Given the description of an element on the screen output the (x, y) to click on. 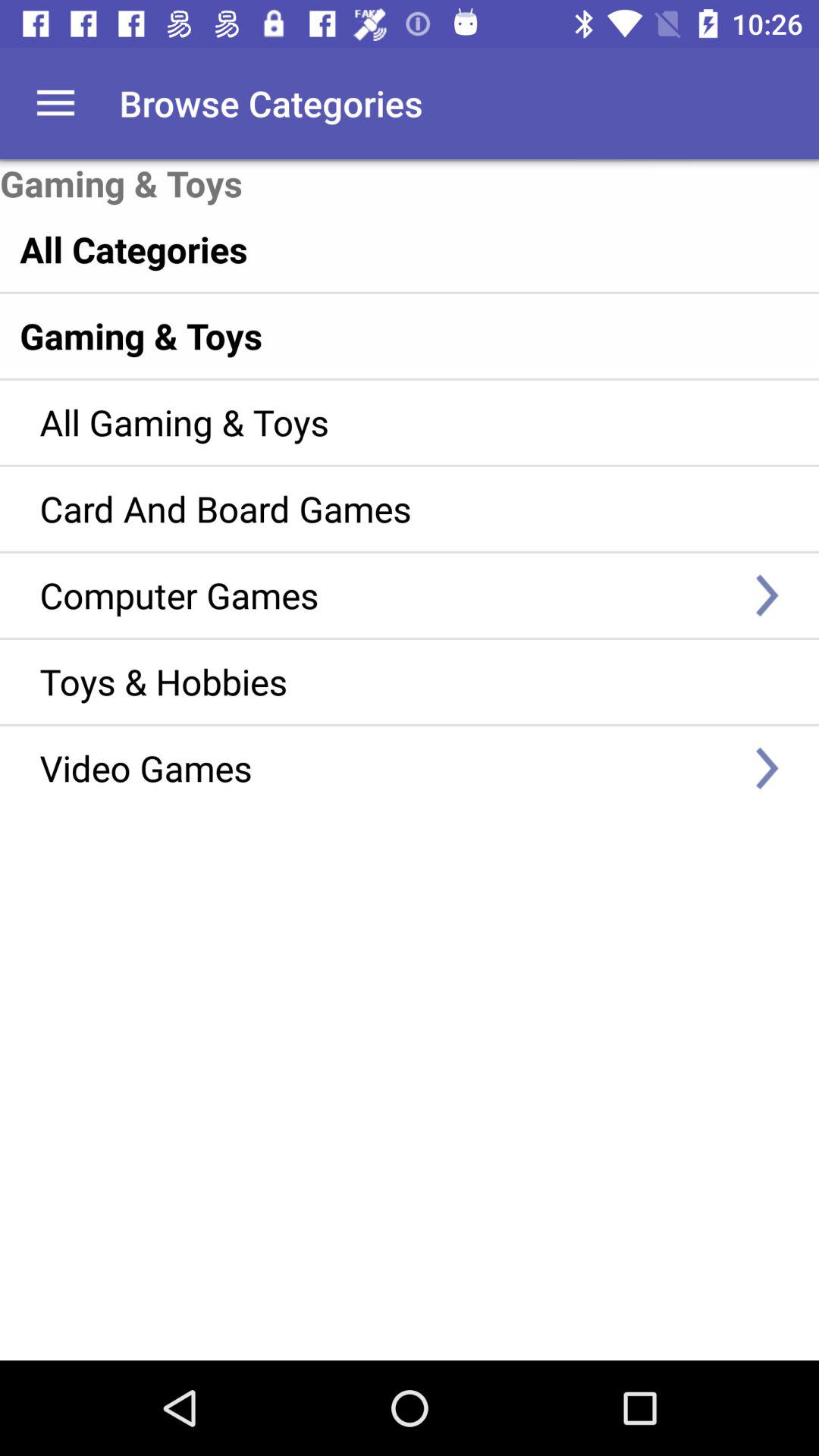
choose icon next to browse categories item (55, 103)
